Given the description of an element on the screen output the (x, y) to click on. 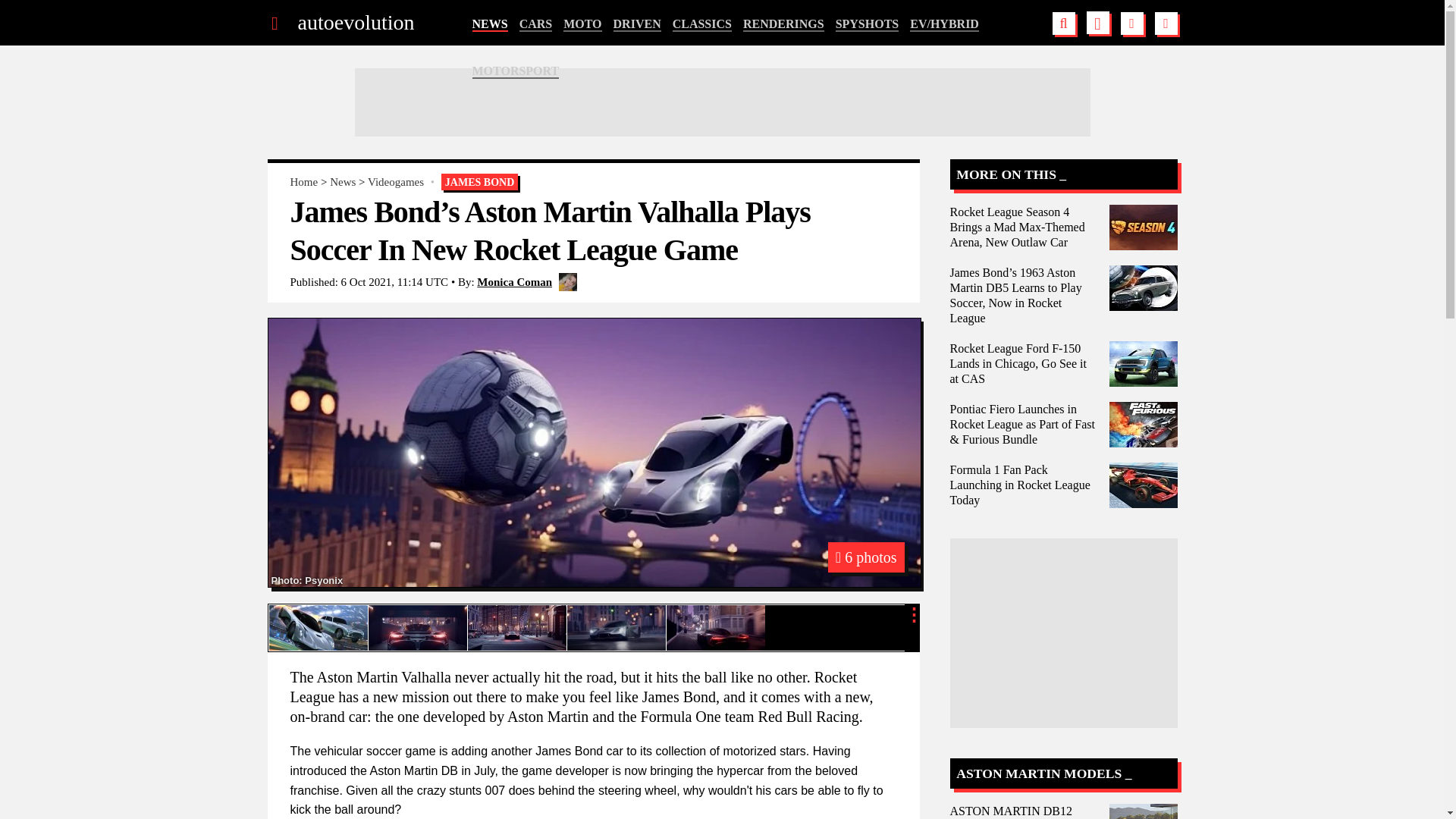
autoevolution (355, 22)
NEWS (488, 24)
DRIVEN (636, 24)
Videogames (395, 182)
autoevolution (355, 22)
Home (303, 182)
News (342, 182)
CLASSICS (702, 24)
CARS (536, 24)
MOTO (582, 24)
